Given the description of an element on the screen output the (x, y) to click on. 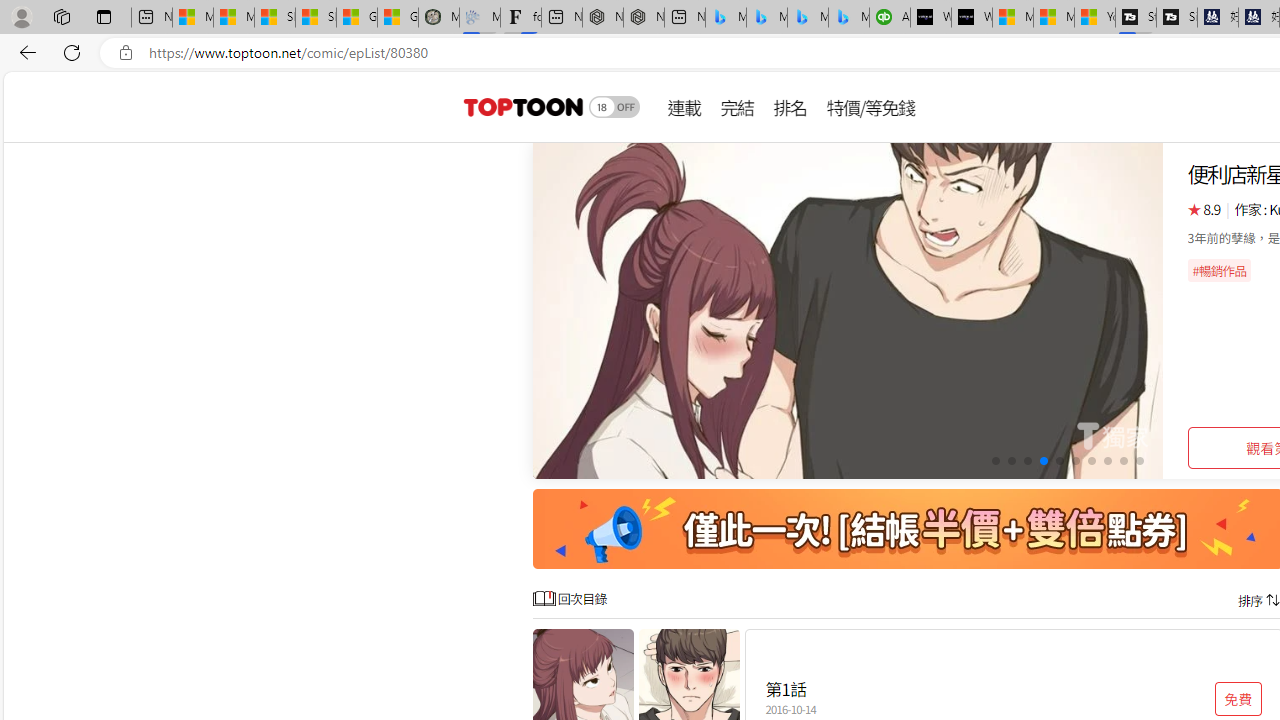
Class: swiper-slide swiper-slide-duplicate (847, 310)
Go to slide 8 (1107, 461)
